Given the description of an element on the screen output the (x, y) to click on. 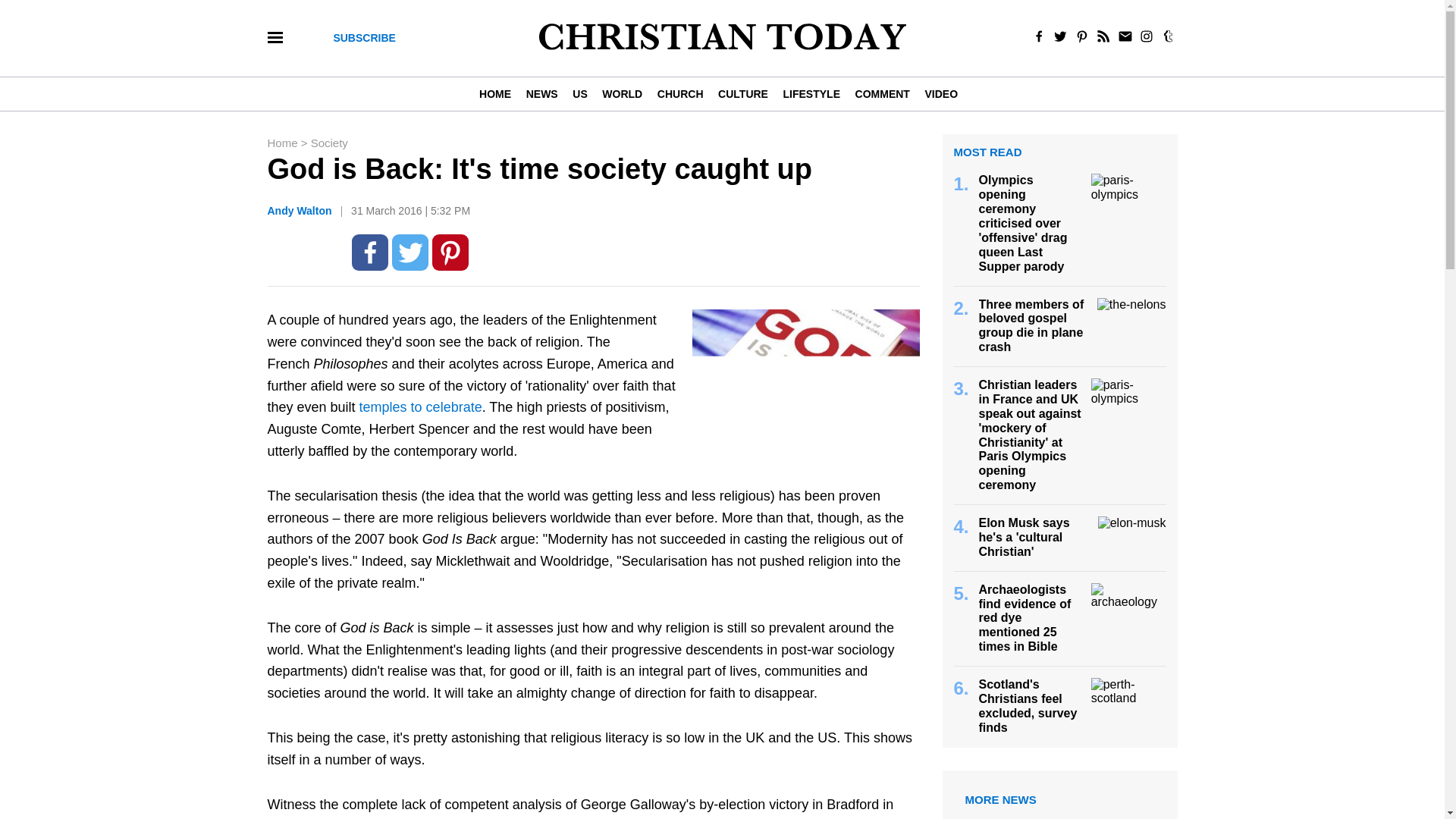
CULTURE (742, 93)
NEWS (542, 93)
HOME (498, 93)
WORLD (622, 93)
COMMENT (882, 93)
SUBSCRIBE (363, 37)
Home (282, 142)
VIDEO (941, 93)
CHURCH (679, 93)
